Given the description of an element on the screen output the (x, y) to click on. 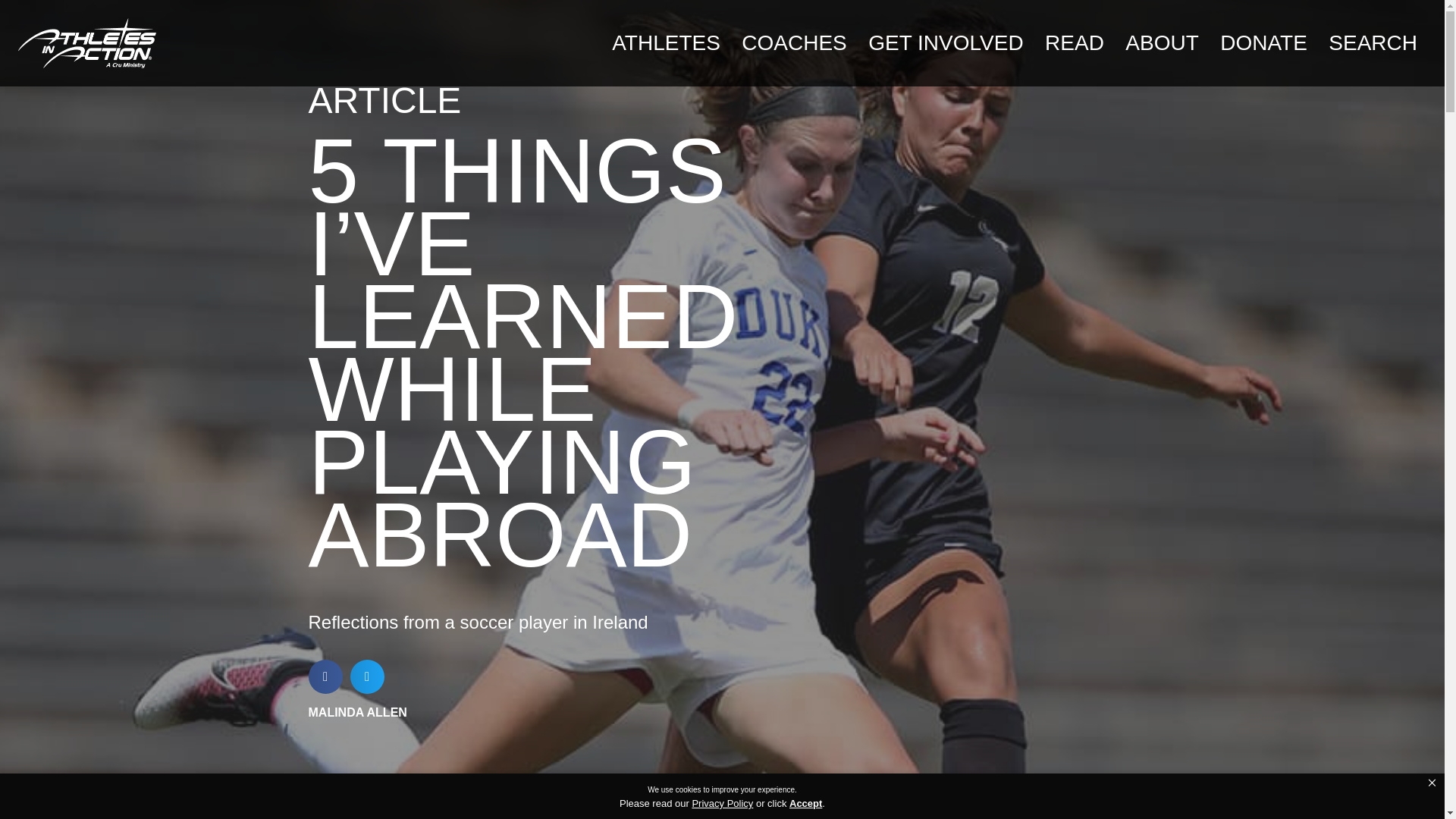
SEARCH (1372, 42)
COACHES (793, 42)
Accept (805, 803)
ABOUT (1161, 42)
READ (1074, 42)
GET INVOLVED (945, 42)
Privacy Policy (721, 803)
ATHLETES (666, 42)
DONATE (1263, 42)
